Given the description of an element on the screen output the (x, y) to click on. 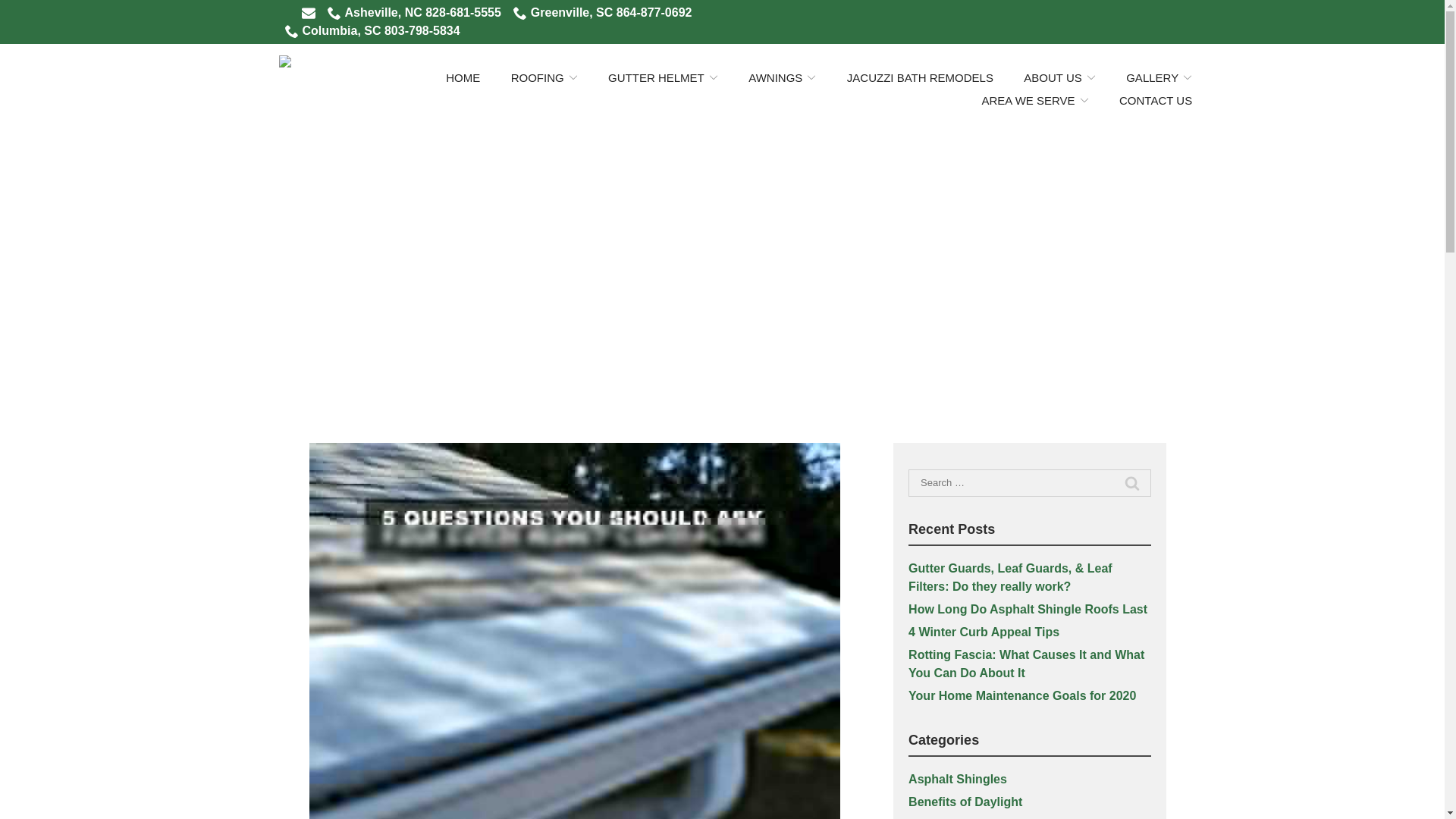
Greenville, SC 864-877-0692 (603, 13)
Asheville, NC 828-681-5555 (413, 13)
Columbia, SC 803-798-5834 (372, 31)
JACUZZI BATH REMODELS (919, 77)
ROOFING (544, 77)
AWNINGS (781, 77)
GALLERY (1158, 77)
GUTTER HELMET (662, 77)
HOME (462, 77)
ABOUT US (1058, 77)
